Given the description of an element on the screen output the (x, y) to click on. 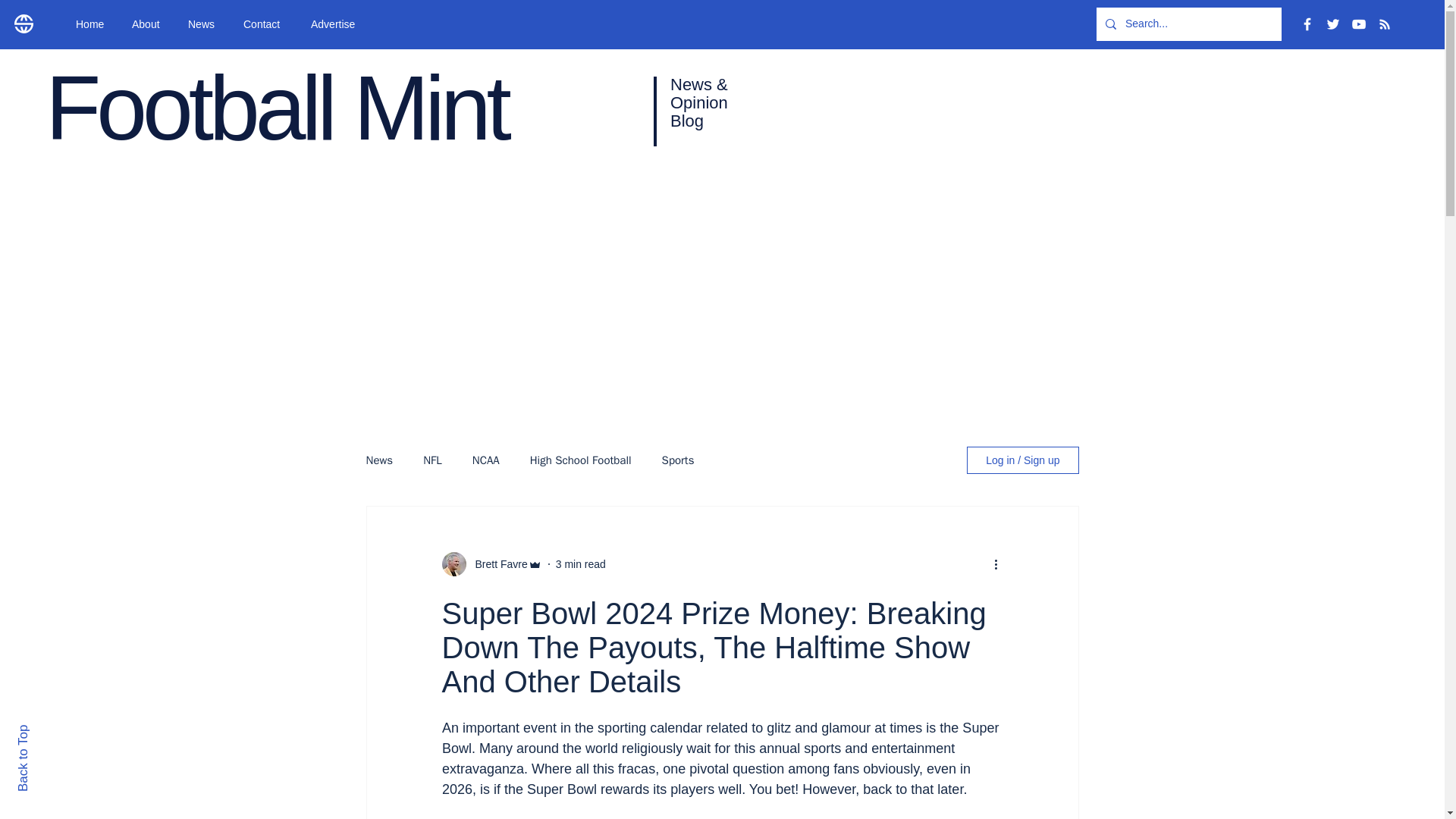
Advertise (338, 24)
High School Football (580, 460)
Contact (265, 24)
News (203, 24)
News (379, 460)
Back to Top (49, 730)
Football Mint (275, 107)
Home (92, 24)
Sports (678, 460)
NFL (432, 460)
